Given the description of an element on the screen output the (x, y) to click on. 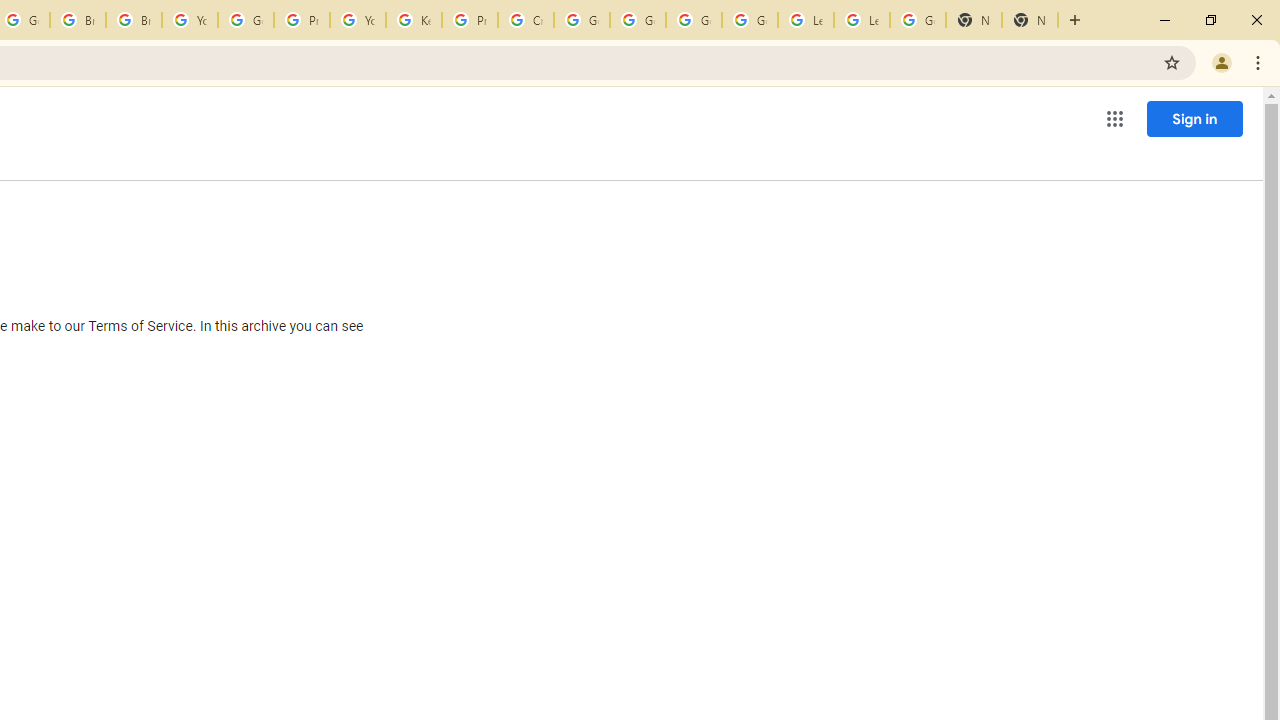
New Tab (1030, 20)
New Tab (973, 20)
Google Account Help (749, 20)
Google Account Help (245, 20)
Google Account Help (693, 20)
Google Account Help (637, 20)
Google Account Help (582, 20)
YouTube (189, 20)
